Given the description of an element on the screen output the (x, y) to click on. 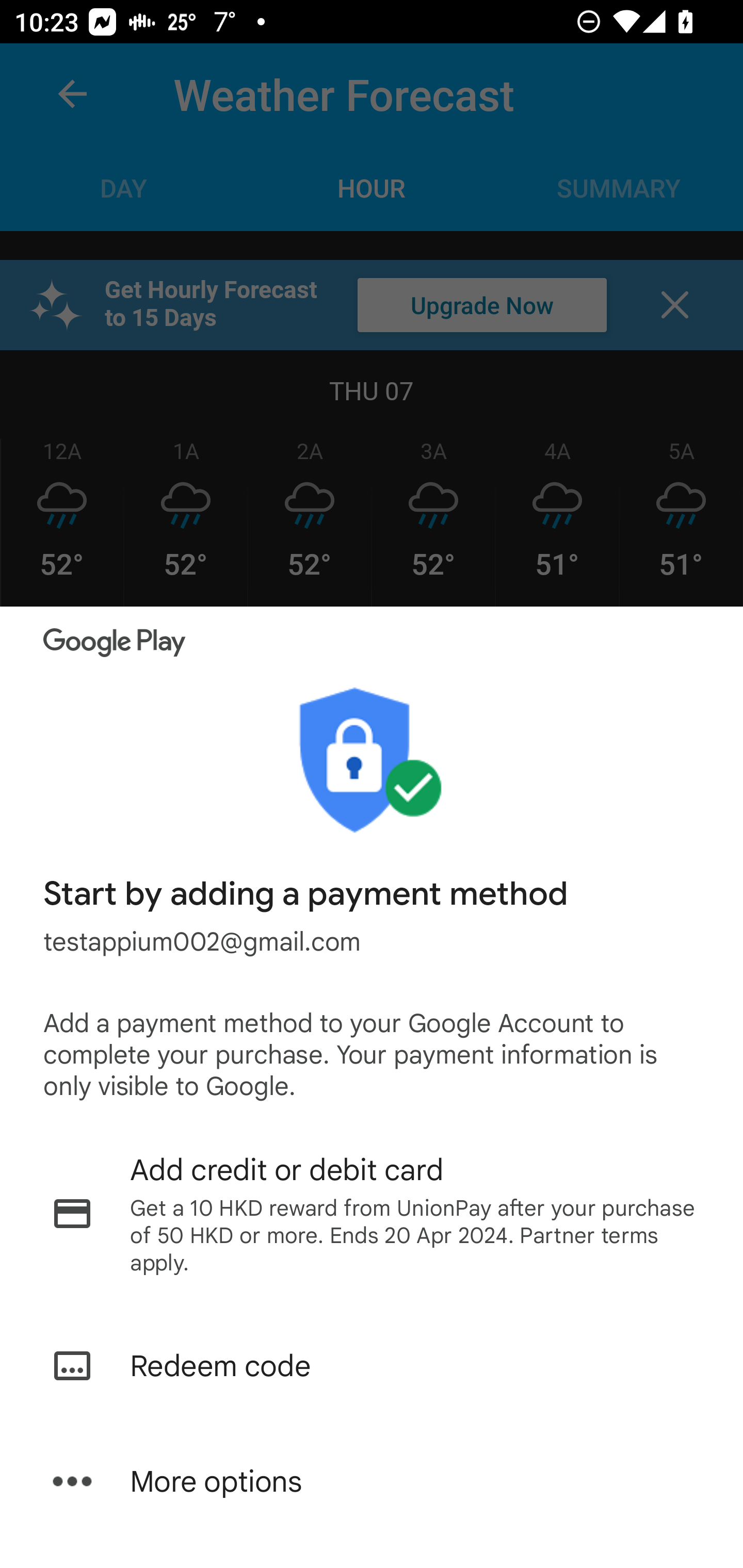
Redeem code (371, 1365)
More options (371, 1481)
